Given the description of an element on the screen output the (x, y) to click on. 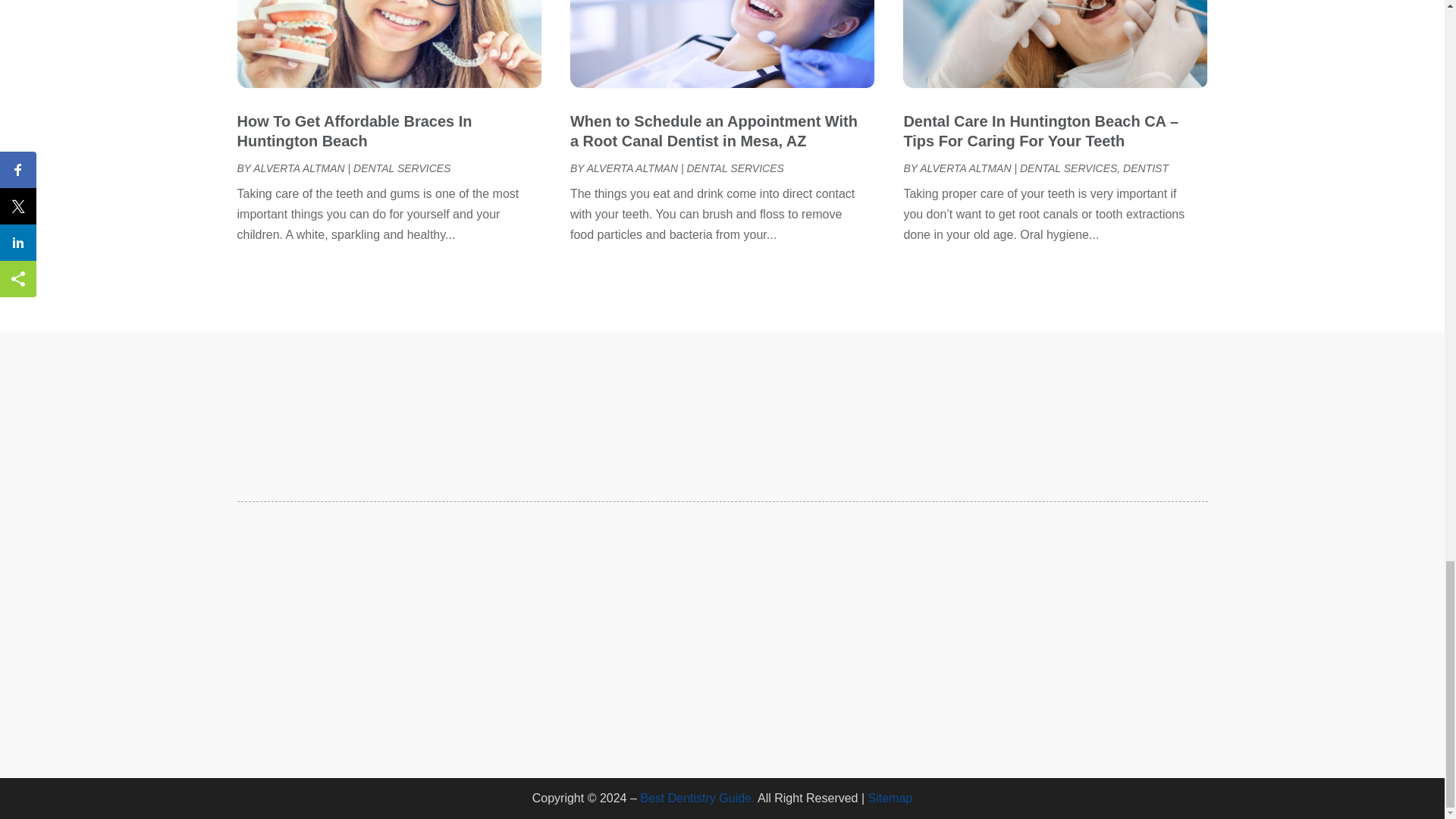
Posts by Alverta Altman (632, 168)
Posts by Alverta Altman (965, 168)
Posts by Alverta Altman (298, 168)
